Given the description of an element on the screen output the (x, y) to click on. 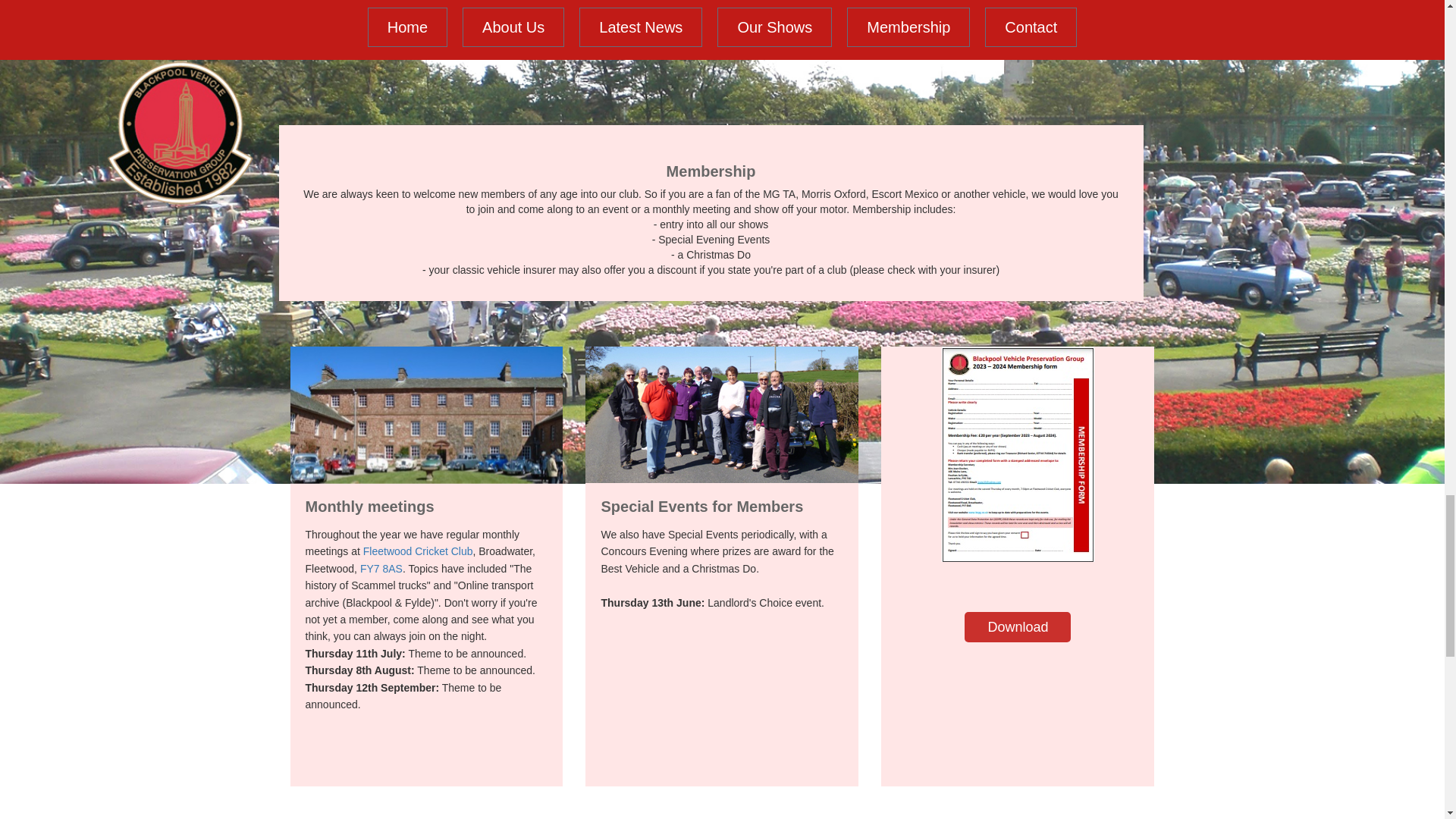
Download (1016, 626)
FY7 8AS (381, 568)
Fleetwood Cricket Club (417, 551)
